Given the description of an element on the screen output the (x, y) to click on. 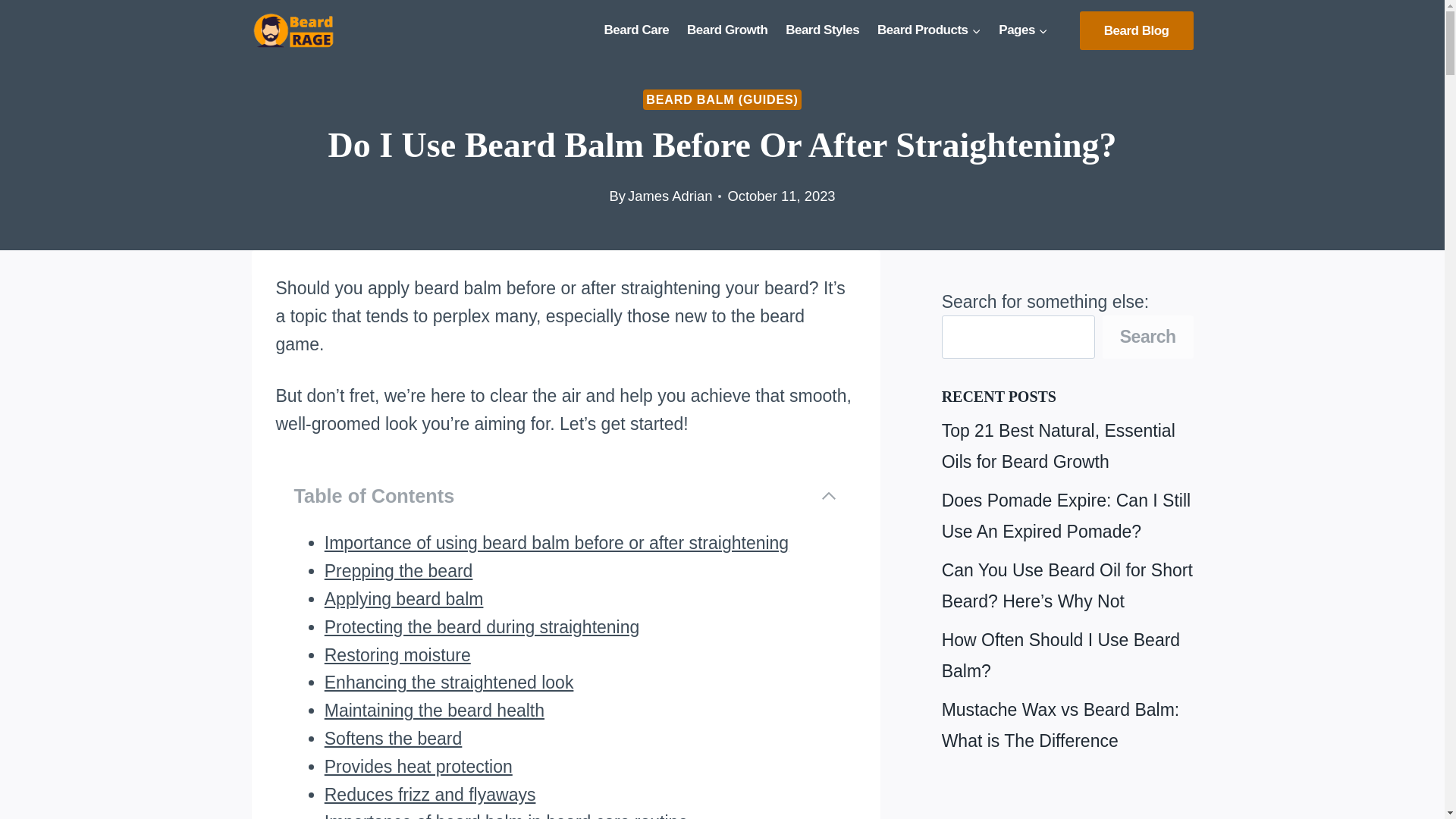
Beard Blog (1136, 29)
Reduces frizz and flyaways (429, 794)
Restoring moisture (397, 655)
Importance of using beard balm before or after straightening (556, 542)
Beard Products (928, 30)
Beard Styles (821, 30)
Enhancing the straightened look (448, 682)
Applying beard balm (403, 598)
Beard Growth (727, 30)
Pages (1023, 30)
Table of Contents (566, 495)
Provides heat protection (418, 766)
Beard Care (636, 30)
Prepping the beard (398, 570)
James Adrian (669, 195)
